Given the description of an element on the screen output the (x, y) to click on. 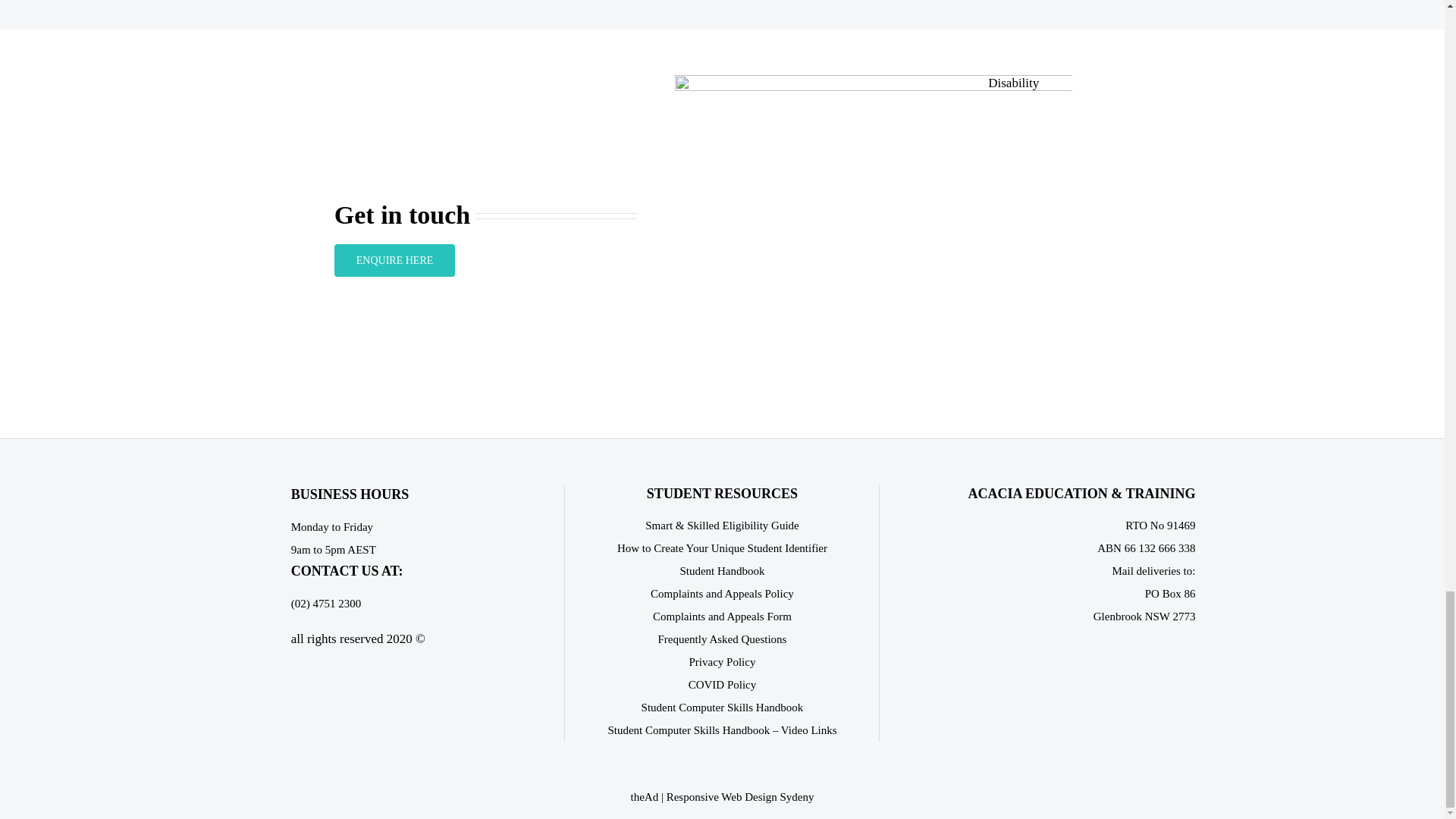
Disability (873, 234)
